Given the description of an element on the screen output the (x, y) to click on. 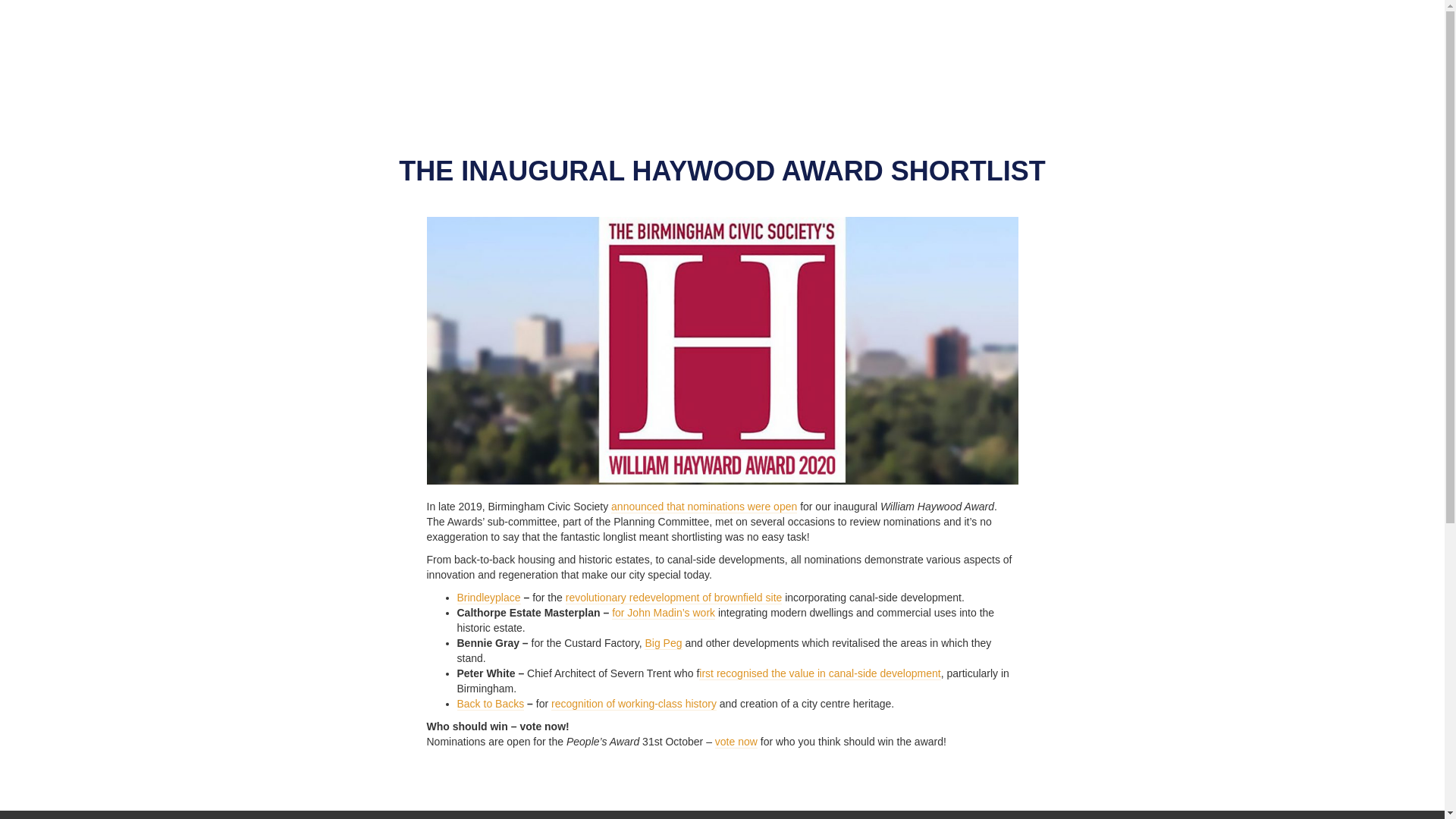
recognition of working-class history (633, 703)
Big Peg (663, 643)
Back to Backs (490, 703)
Brindleyplace (488, 597)
vote now (735, 741)
announced that nominations were open (703, 506)
irst recognised the value in canal-side development (819, 673)
revolutionary redevelopment of brownfield site (674, 597)
